Given the description of an element on the screen output the (x, y) to click on. 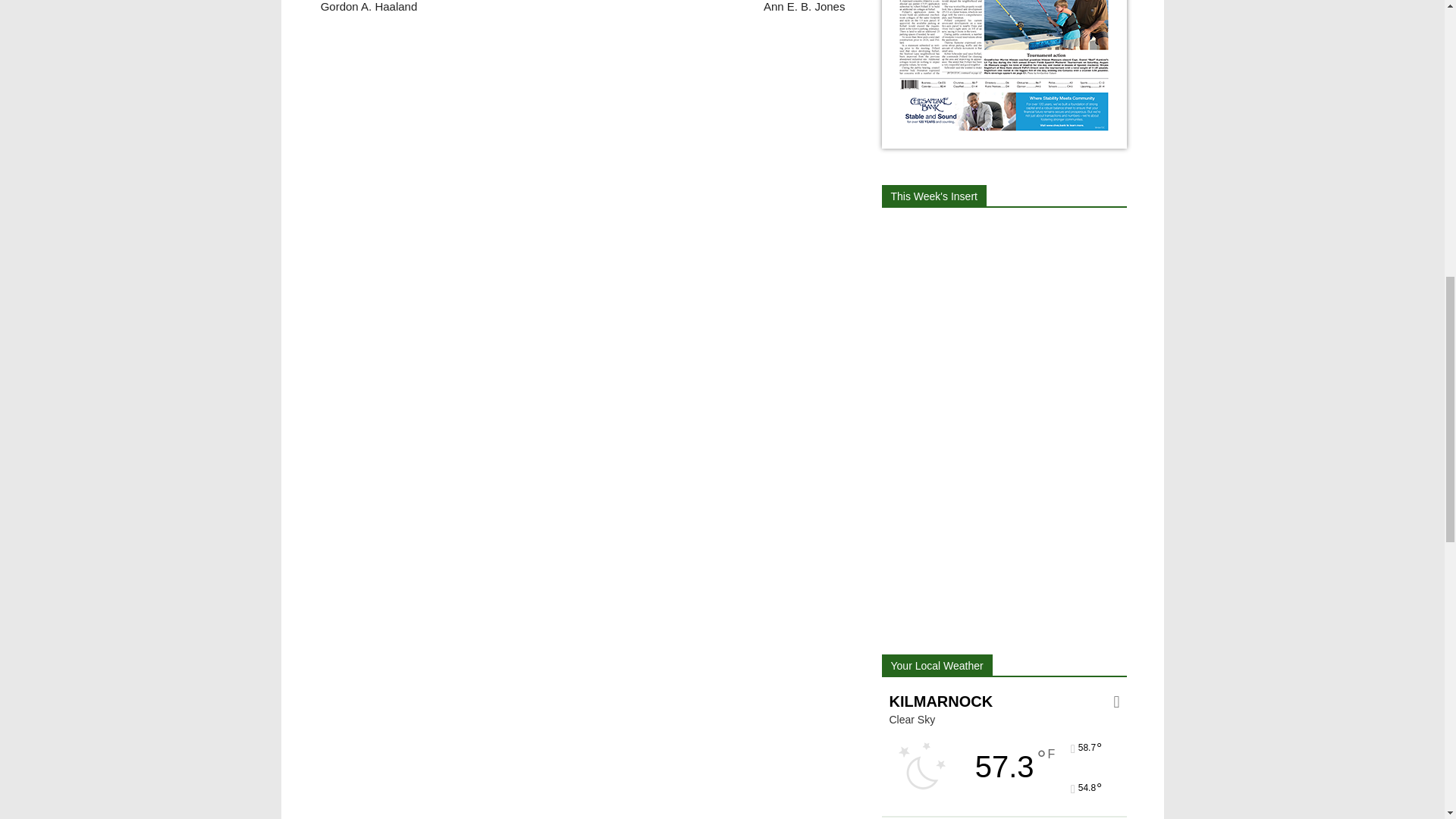
This Week's Insert (932, 195)
Ann E. B. Jones (803, 6)
 Gordon A. Haaland (366, 6)
